Given the description of an element on the screen output the (x, y) to click on. 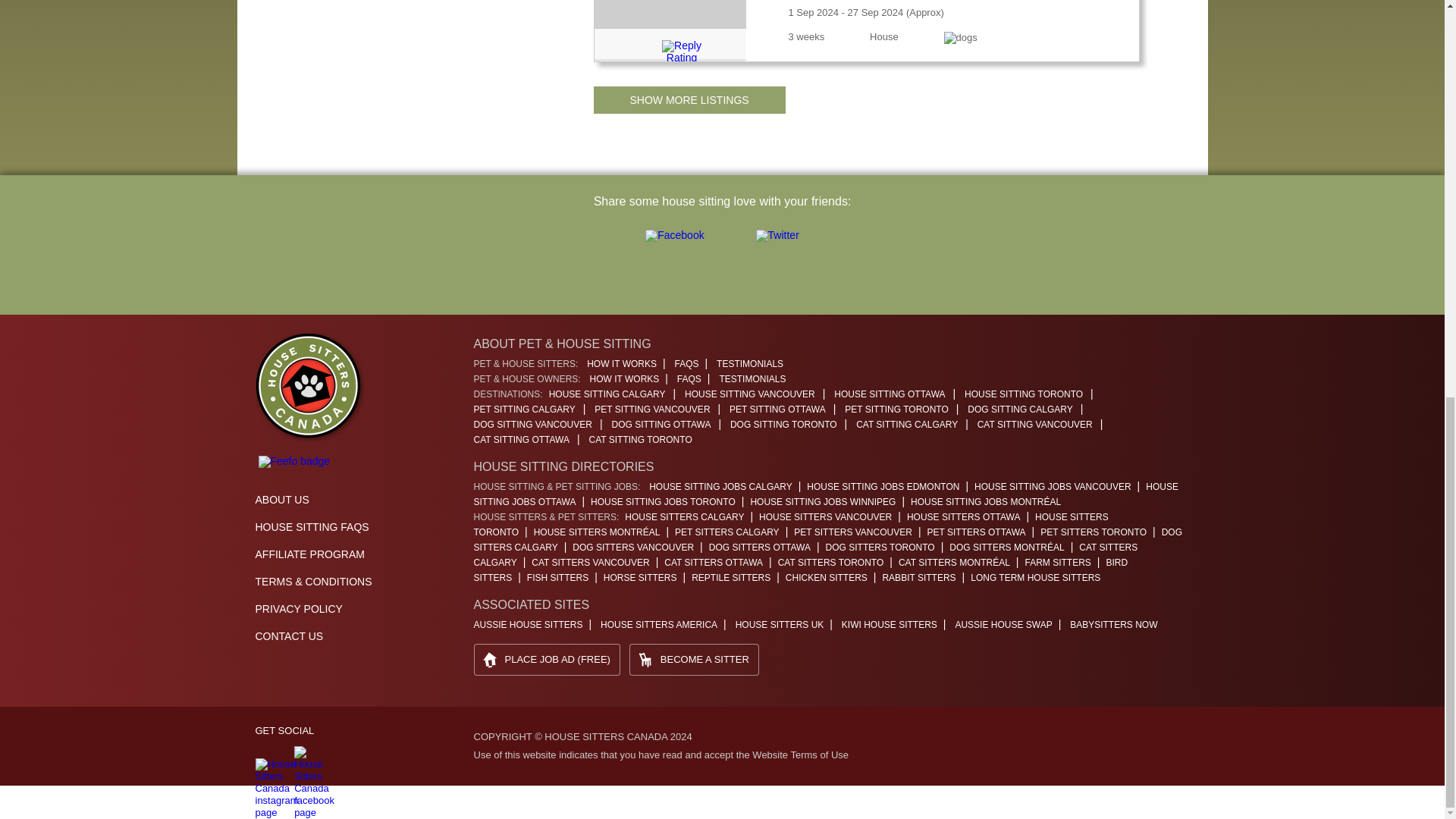
See what our members say about us (293, 461)
HOUSE SITTING FAQS (311, 526)
ABOUT US (281, 499)
SHOW MORE LISTINGS (688, 99)
